Given the description of an element on the screen output the (x, y) to click on. 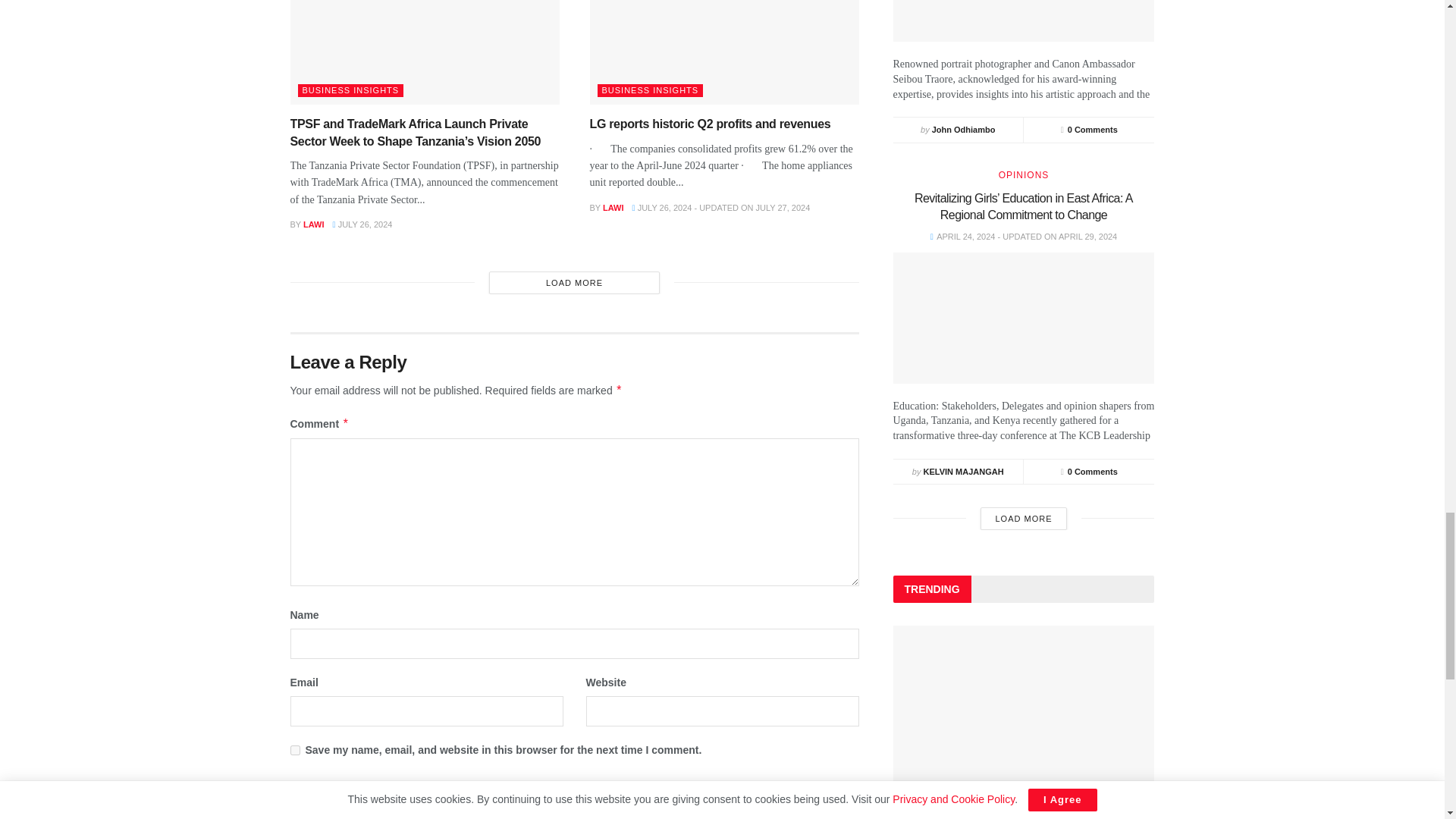
on (294, 808)
yes (294, 750)
